Given the description of an element on the screen output the (x, y) to click on. 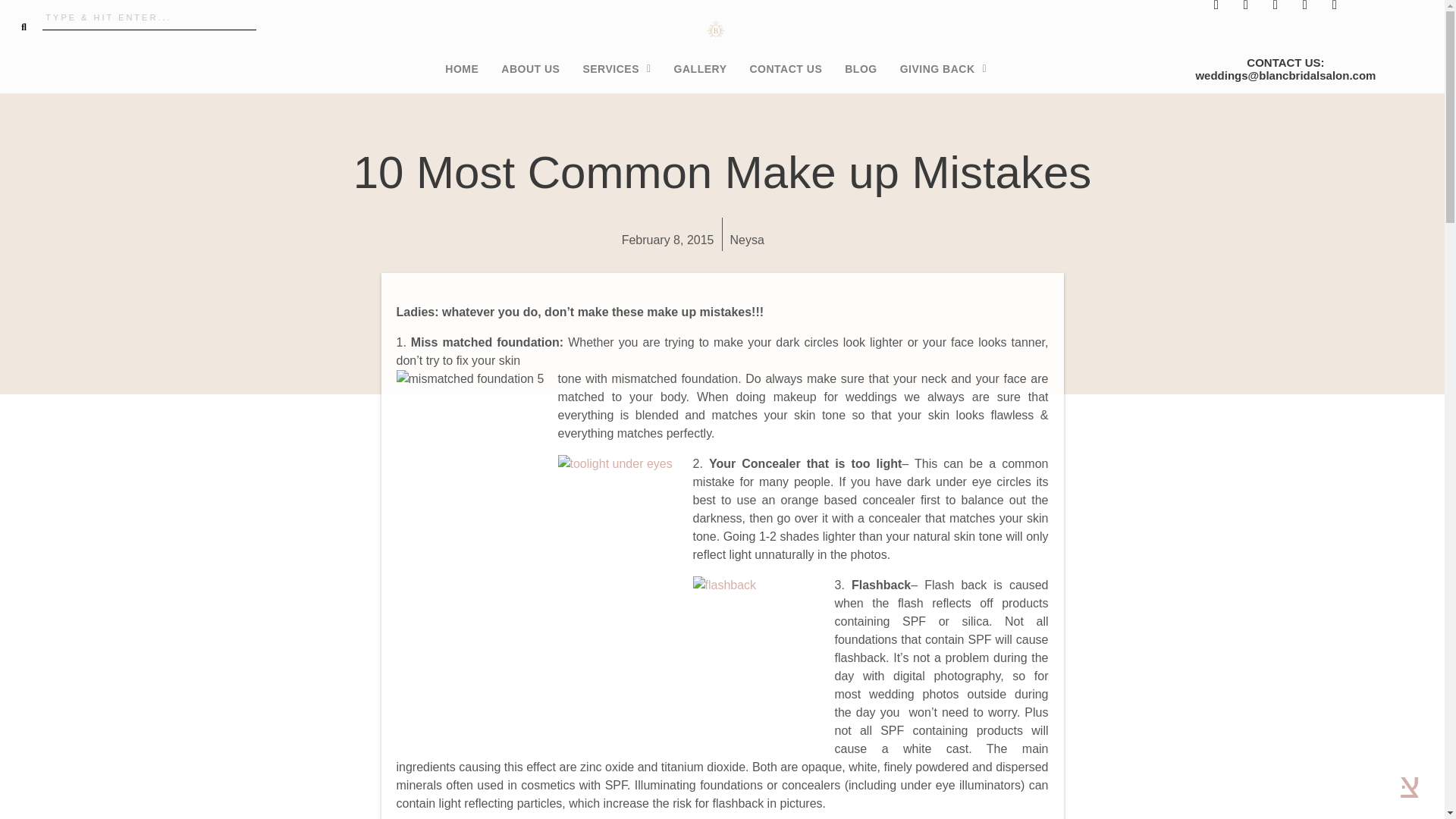
Search (149, 16)
HOME (461, 68)
BLOG (860, 68)
CONTACT US (785, 68)
SERVICES (616, 68)
GALLERY (700, 68)
GIVING BACK (942, 68)
ABOUT US (529, 68)
